Given the description of an element on the screen output the (x, y) to click on. 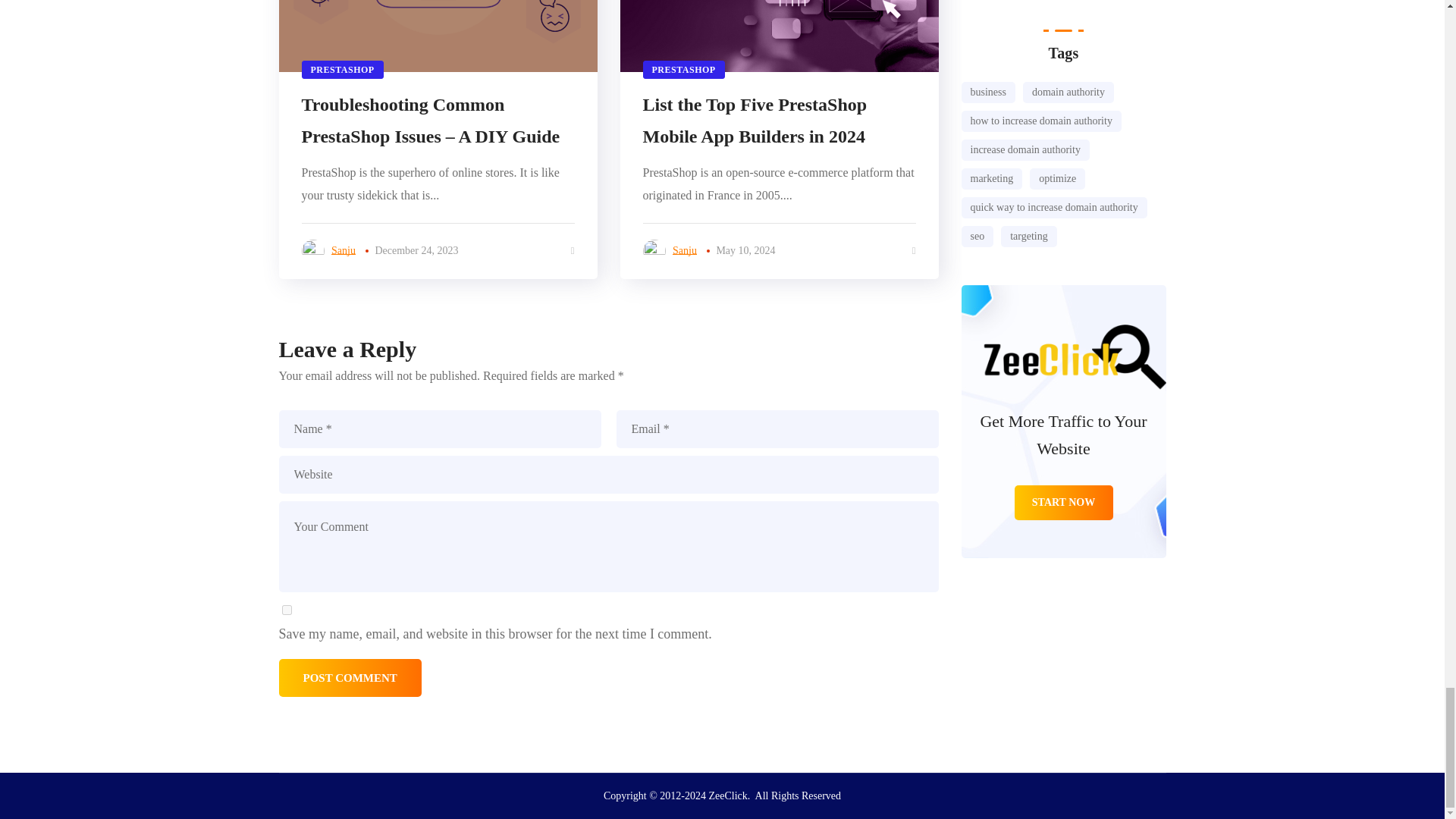
Website (609, 474)
Post Comment (350, 677)
yes (287, 610)
